Given the description of an element on the screen output the (x, y) to click on. 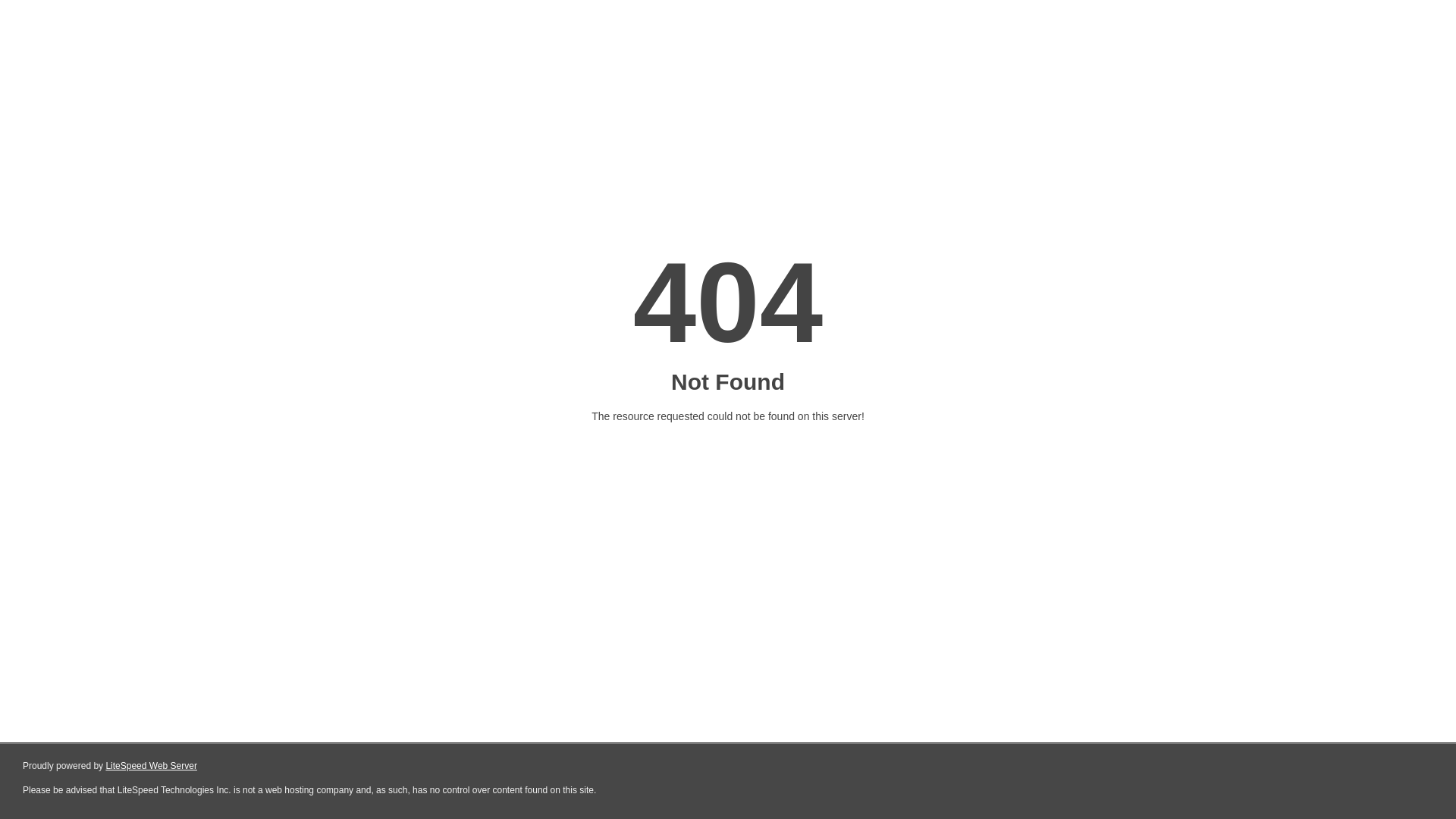
LiteSpeed Web Server Element type: text (151, 765)
